Given the description of an element on the screen output the (x, y) to click on. 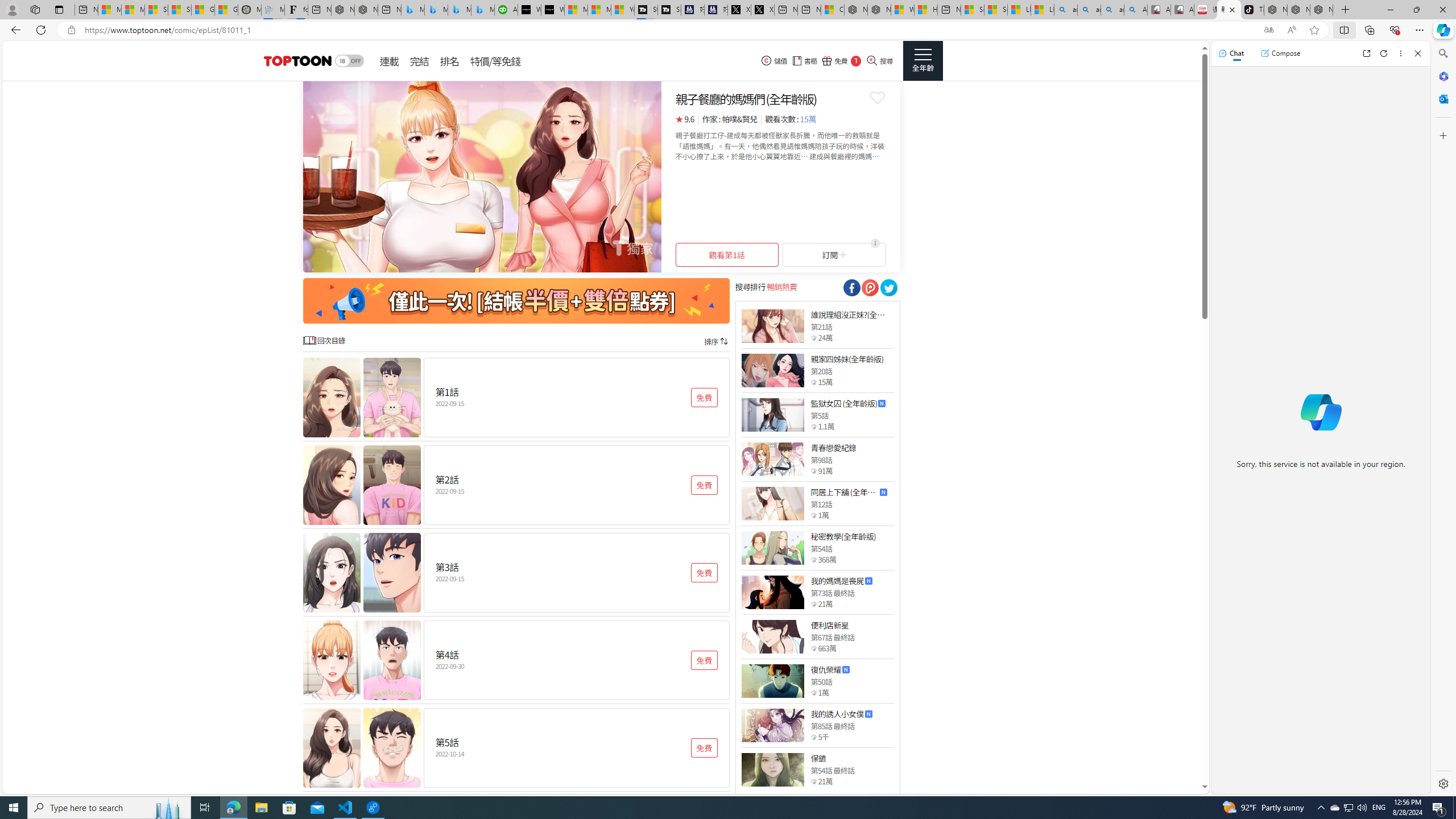
Nordace Siena Pro 15 Backpack (1298, 9)
Class: swiper-slide (481, 176)
Class: socialShare (887, 287)
